Given the description of an element on the screen output the (x, y) to click on. 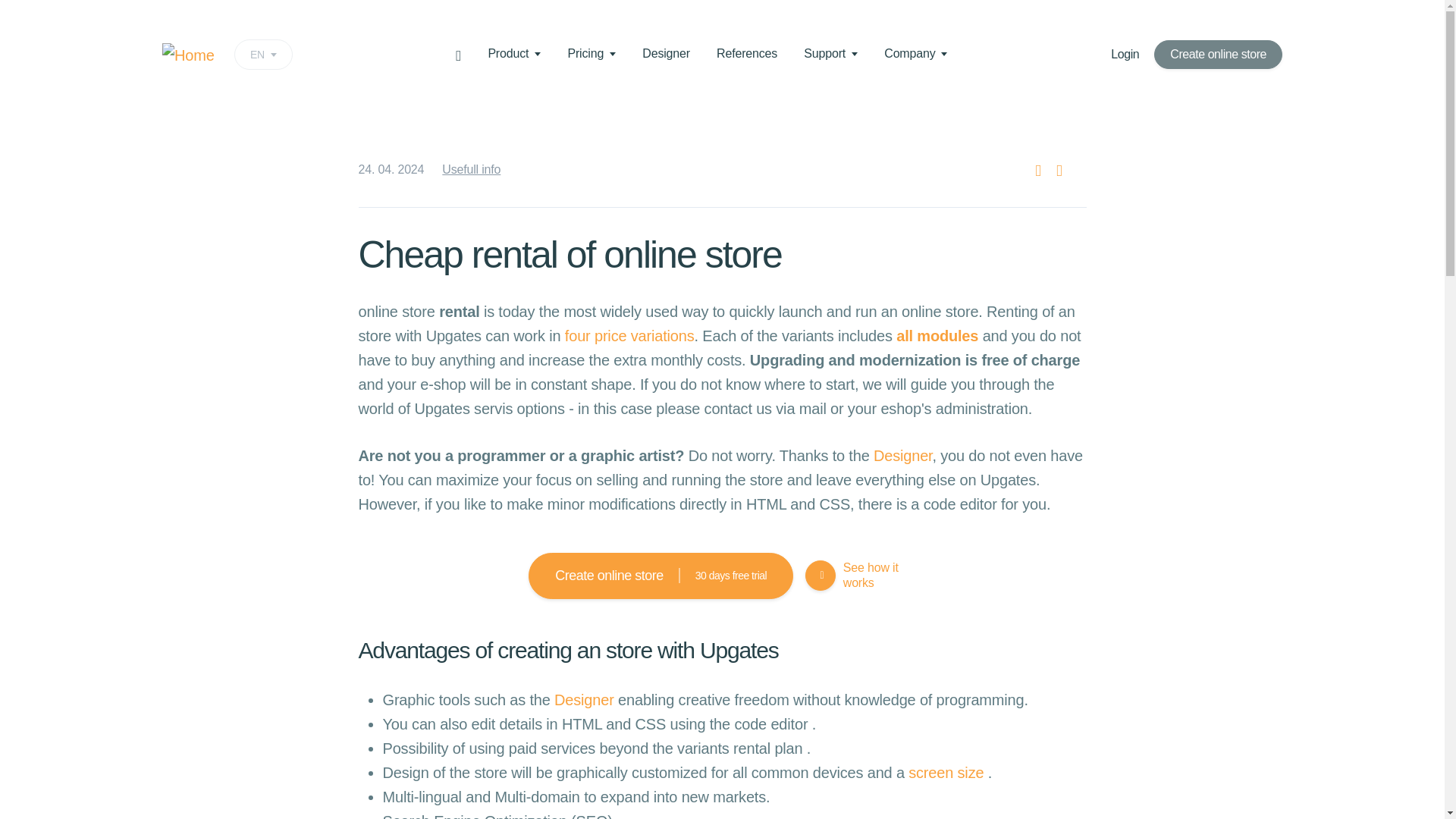
Support (830, 52)
Pricing (591, 52)
Home (187, 54)
Product (514, 52)
References (746, 52)
Designer (665, 52)
Company (263, 54)
